Given the description of an element on the screen output the (x, y) to click on. 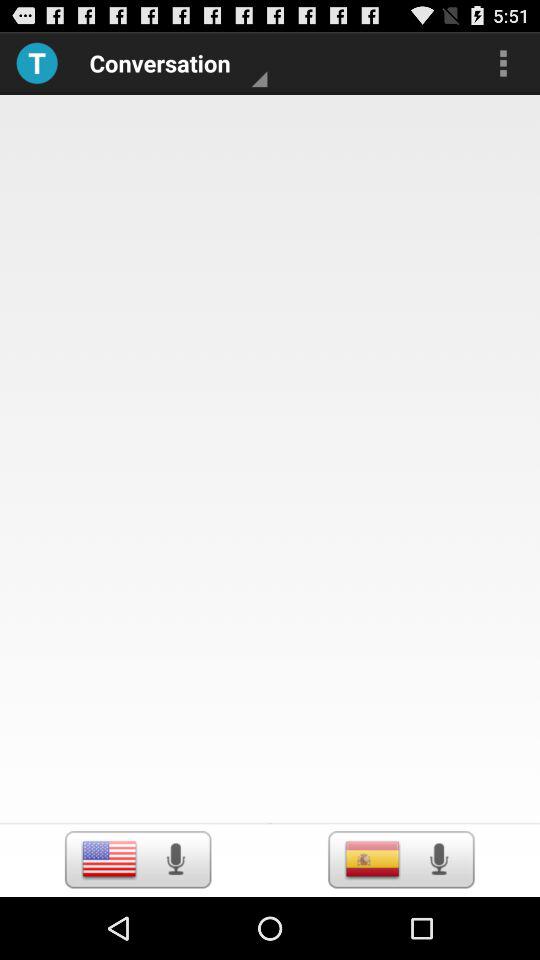
speaker button (438, 859)
